Given the description of an element on the screen output the (x, y) to click on. 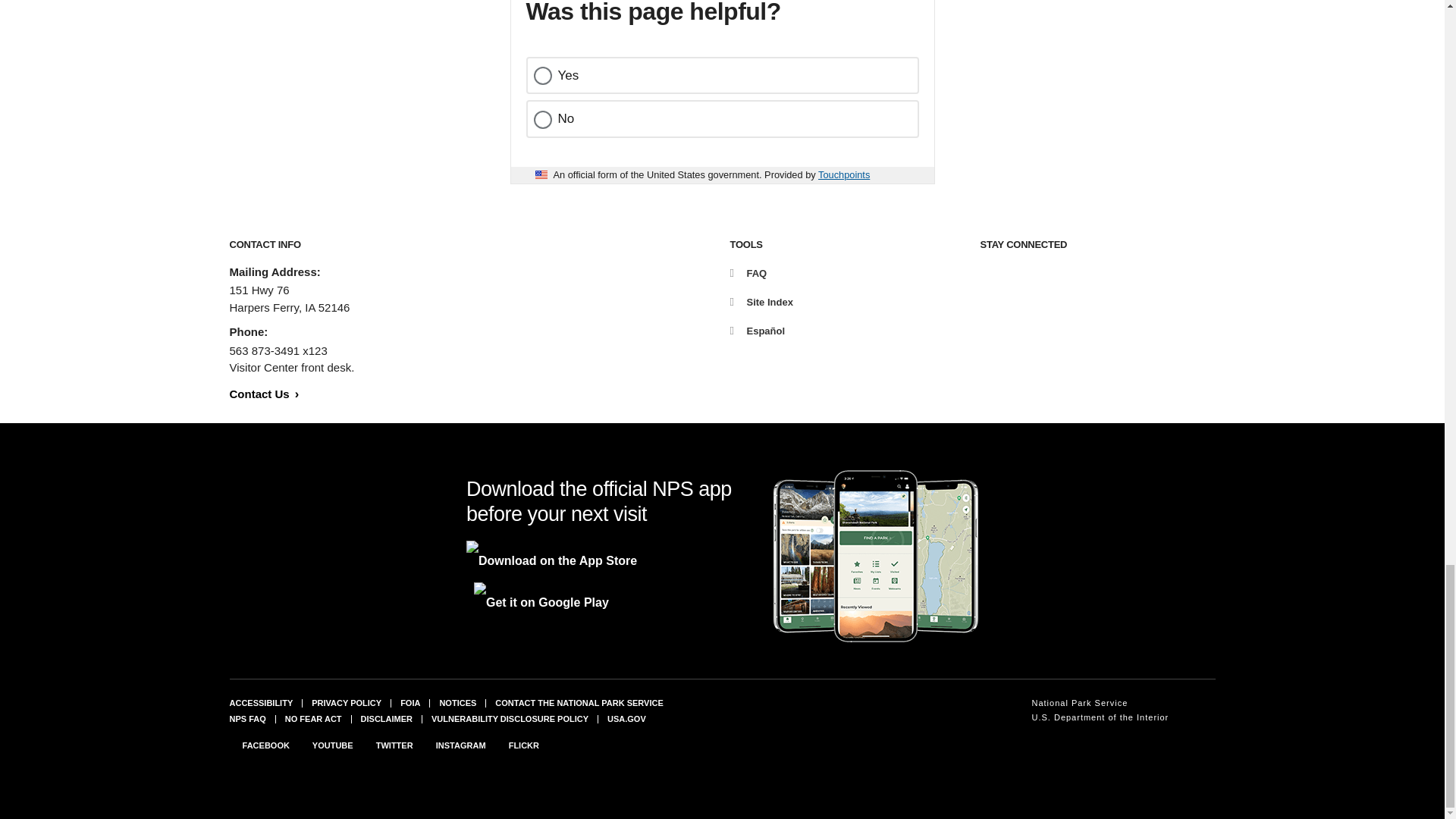
FOIA (410, 702)
Touchpoints (843, 174)
National Park Service frequently asked questions (246, 718)
ACCESSIBILITY (260, 702)
Site Index (760, 301)
PRIVACY POLICY (346, 702)
National Park Service (1099, 703)
FAQ (748, 273)
U.S. Department of the Interior (1099, 717)
Contact Us (263, 392)
